Given the description of an element on the screen output the (x, y) to click on. 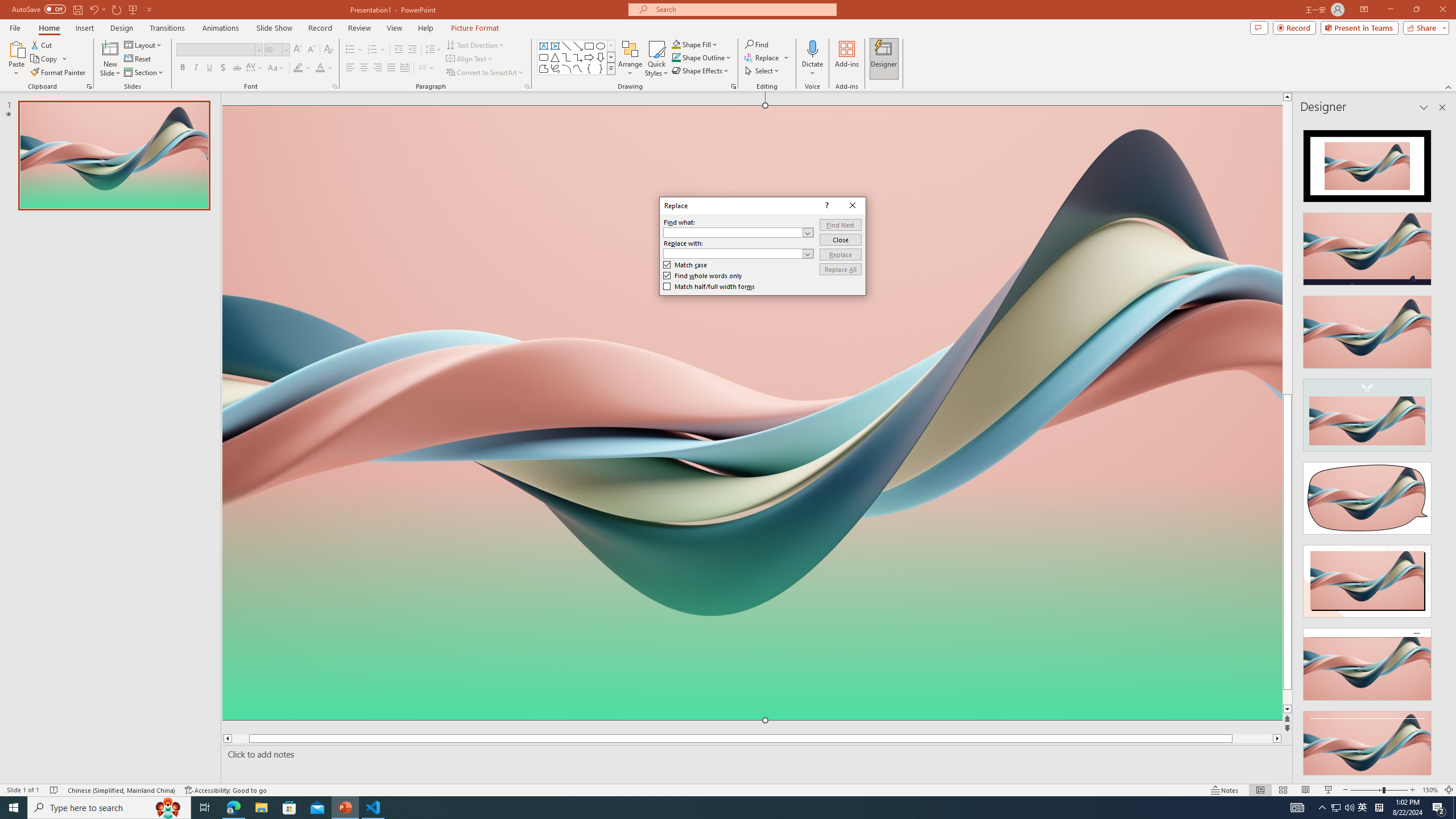
Replace with (737, 253)
